Given the description of an element on the screen output the (x, y) to click on. 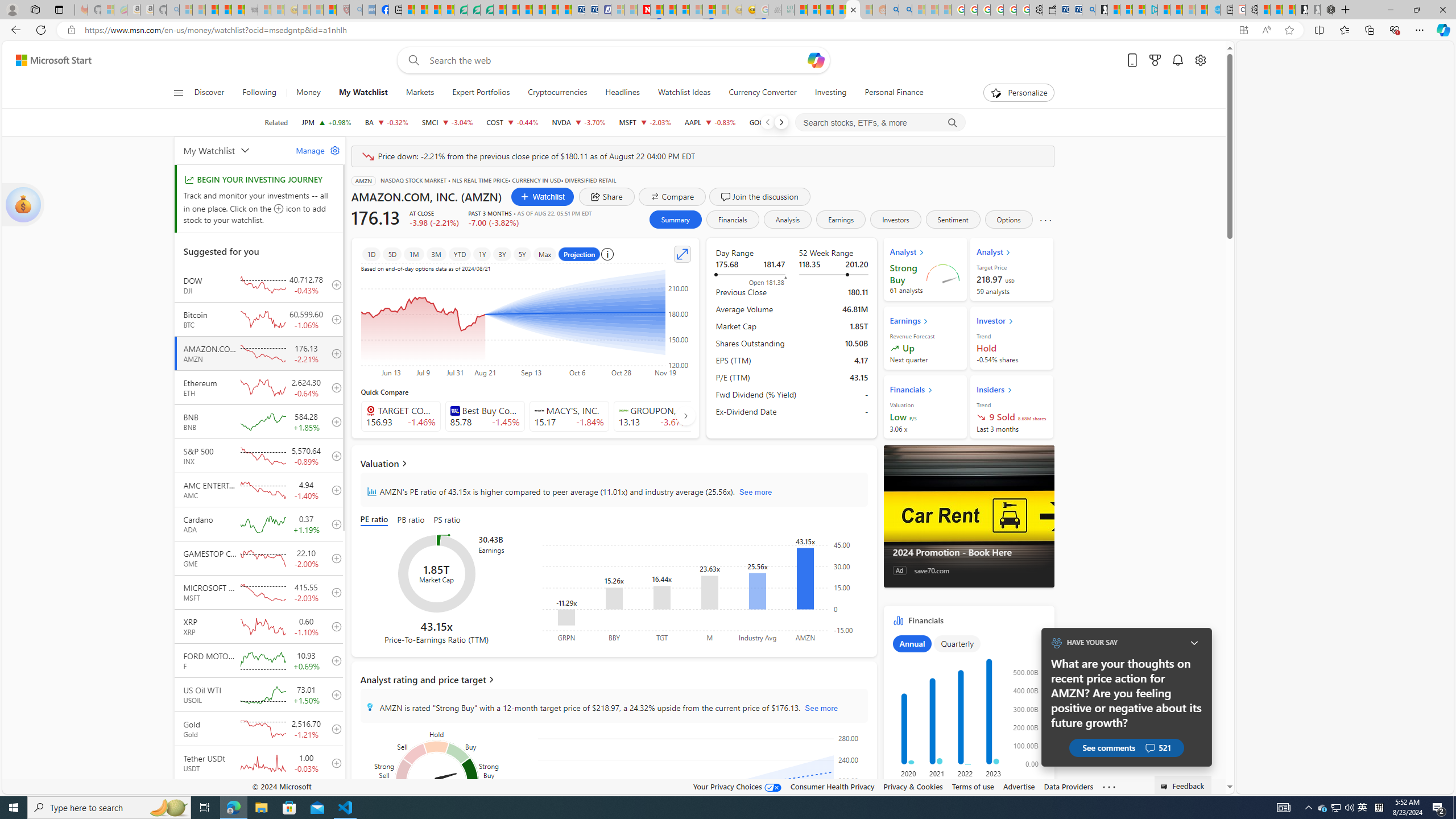
Currency Converter (762, 92)
Class: autoSuggestIcon-DS-EntryPoint1-3 (623, 410)
Class: card_head_icon_lightMode-DS-EntryPoint1-1 (1009, 389)
GOOG ALPHABET INC. decrease 165.49 -2.14 -1.28% (775, 122)
3M (436, 254)
add to your watchlist (333, 797)
